Given the description of an element on the screen output the (x, y) to click on. 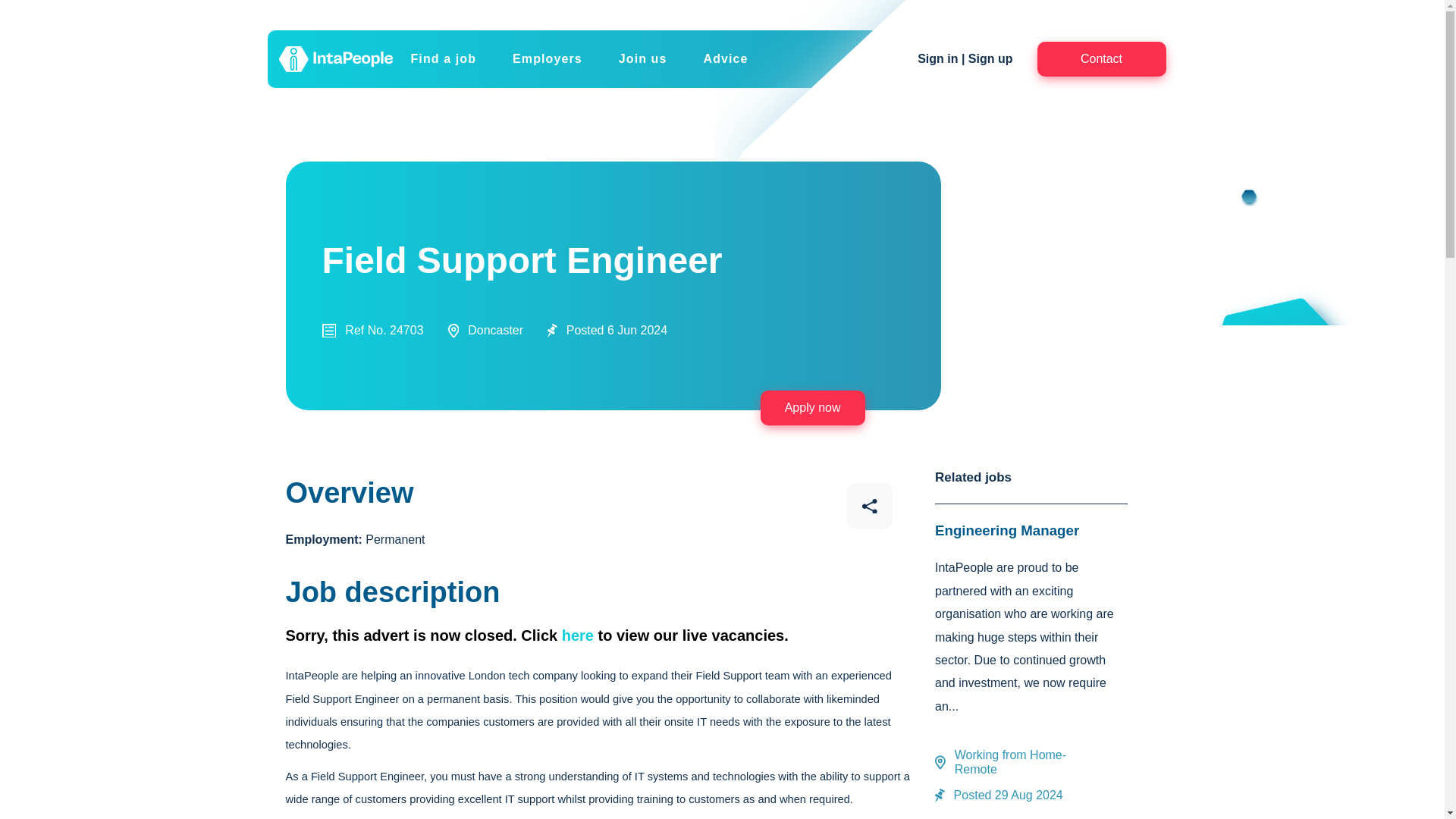
Employers (547, 58)
Apply now (812, 407)
Sign in (937, 58)
Advice (725, 58)
Contact (1101, 58)
IntaPeople (336, 58)
Find a job (443, 58)
Join us (643, 58)
here (578, 635)
Sign up (990, 58)
